Given the description of an element on the screen output the (x, y) to click on. 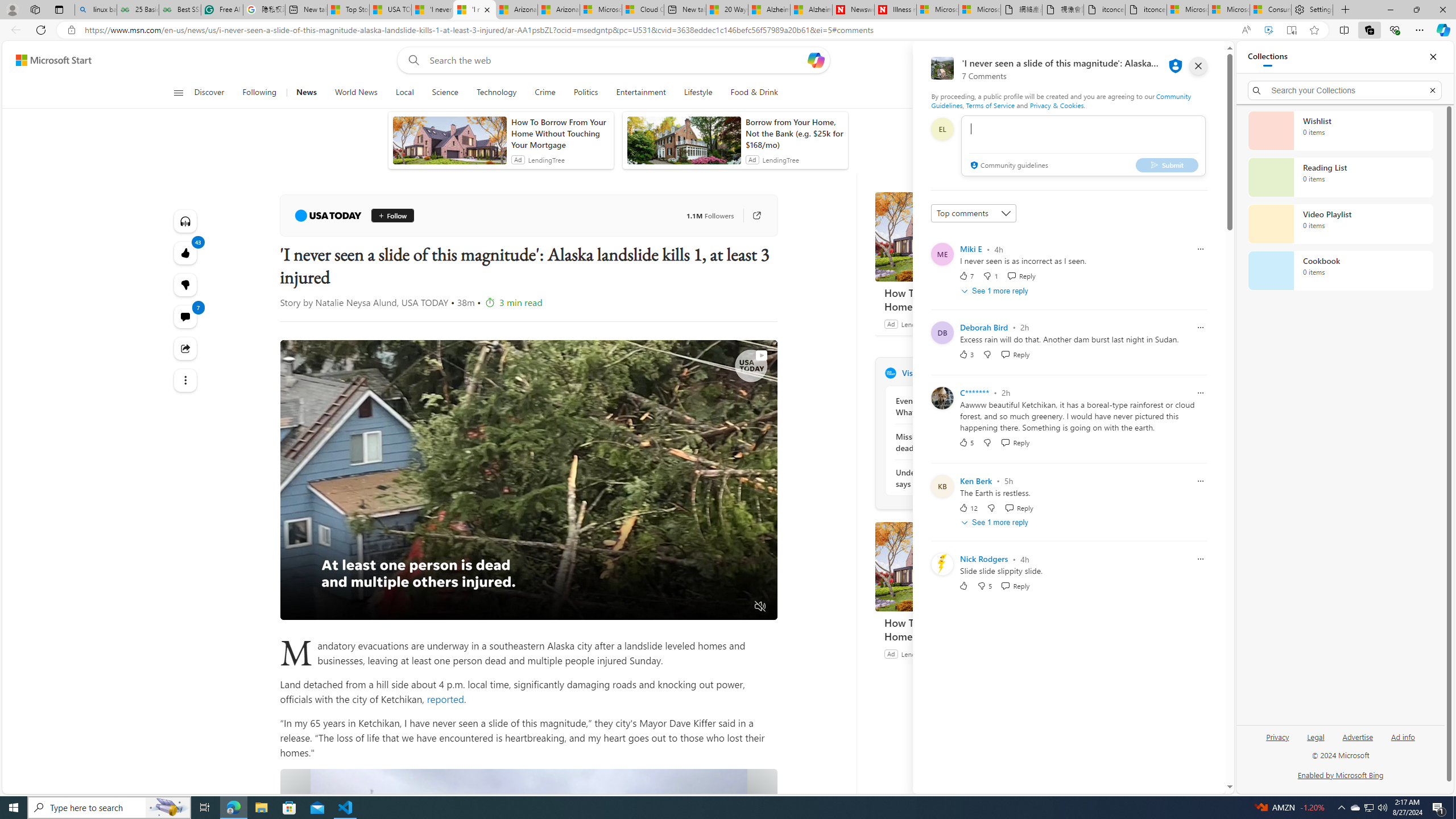
Search your Collections (1345, 90)
Deborah Bird (984, 327)
Food & Drink (748, 92)
Class: button-glyph (178, 92)
3 Like (965, 354)
